Given the description of an element on the screen output the (x, y) to click on. 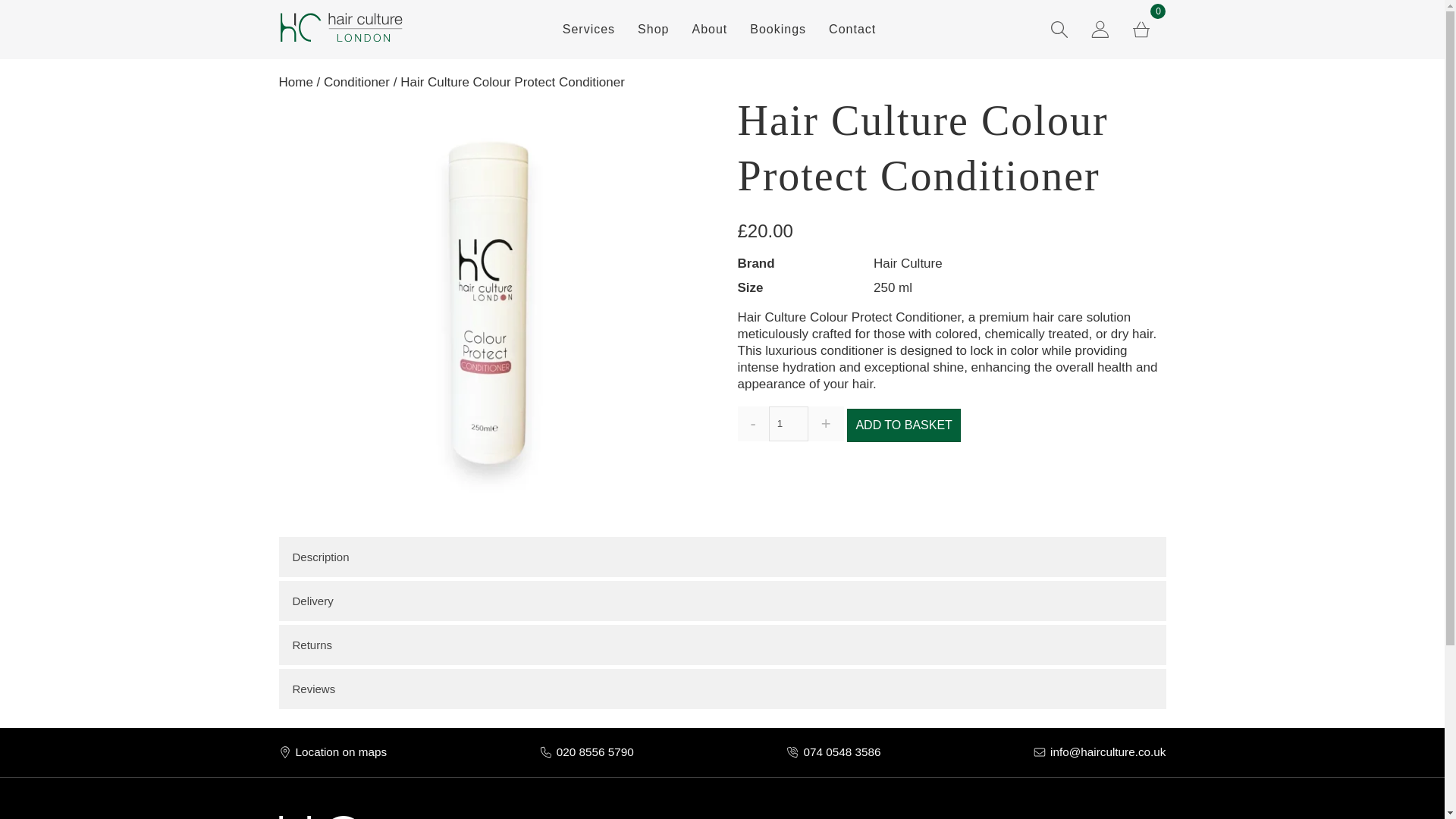
020 8556 5790 (594, 751)
Services (588, 29)
Bookings (777, 29)
Contact (851, 29)
Hairculture Location (341, 751)
Conditioner (356, 82)
Delivery (722, 600)
Reviews (722, 689)
074 0548 3586 (841, 751)
1 (788, 423)
About (708, 29)
Home (296, 82)
Location on maps (341, 751)
- (752, 423)
Shop (652, 29)
